Given the description of an element on the screen output the (x, y) to click on. 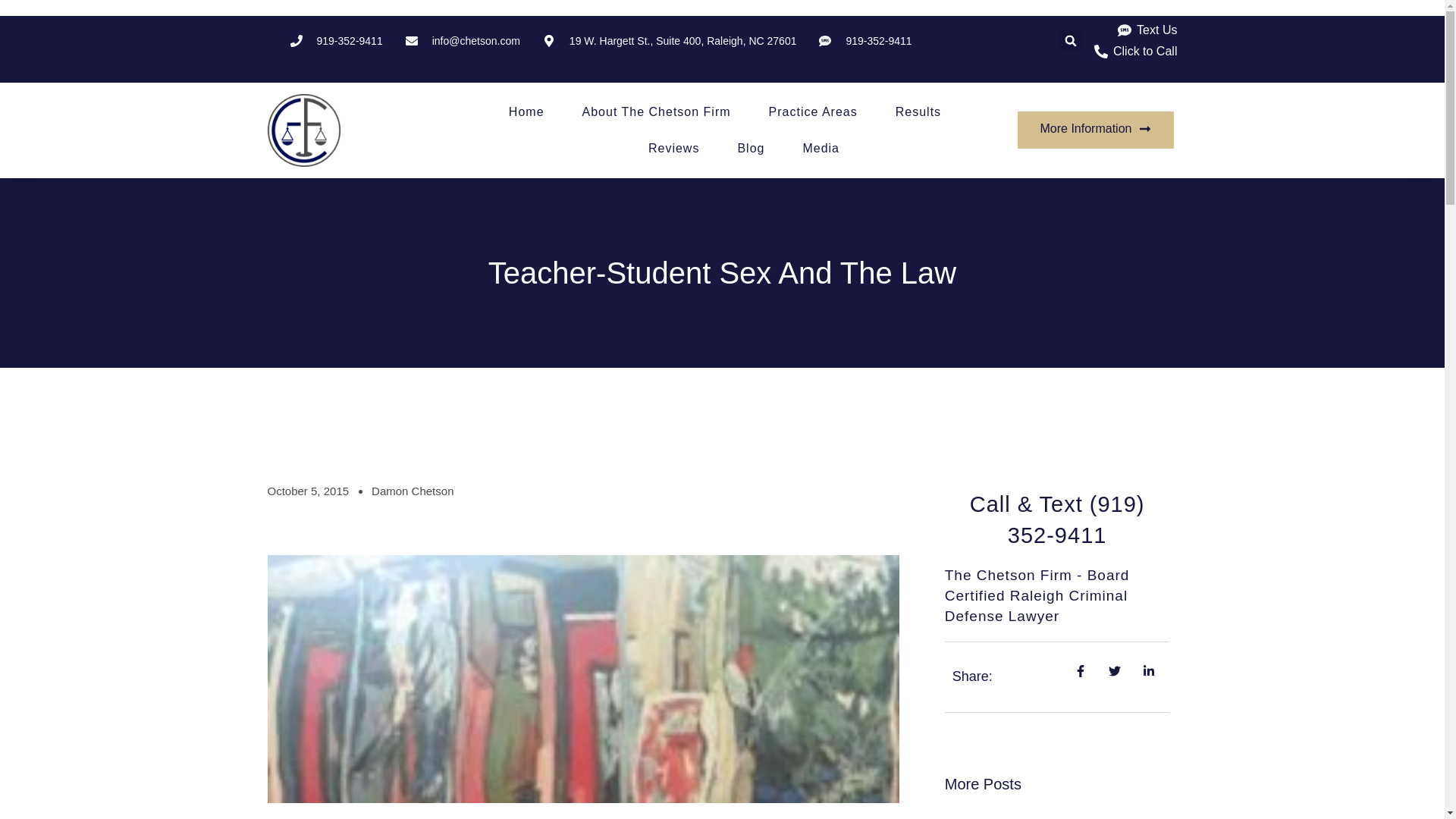
Home (526, 112)
Results (917, 112)
Reviews (672, 148)
Click to Call (1134, 51)
Text Us (1146, 29)
Practice Areas (812, 112)
About The Chetson Firm (656, 112)
Media (821, 148)
